Given the description of an element on the screen output the (x, y) to click on. 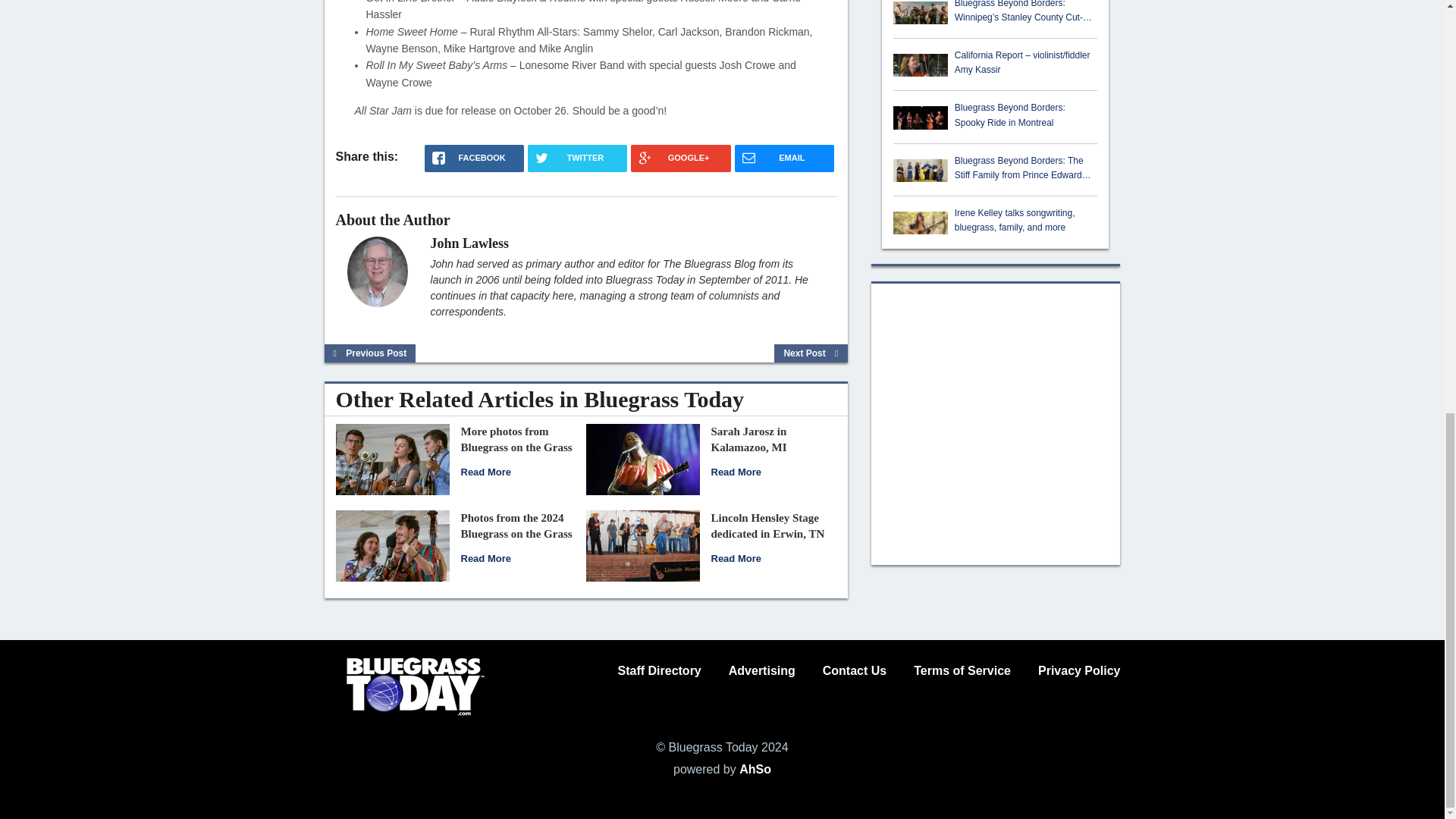
TWITTER (577, 157)
FACEBOOK (474, 157)
Sarah Jarosz in Kalamazoo, MI (749, 439)
Previous Post (370, 353)
Lincoln Hensley Stage dedicated in Erwin, TN (768, 525)
Lincoln Hensley Stage dedicated in Erwin, TN (641, 544)
Photos from the 2024 Bluegrass on the Grass (486, 558)
Photos from the 2024 Bluegrass on the Grass (516, 525)
More photos from Bluegrass on the Grass (486, 471)
Photos from the 2024 Bluegrass on the Grass (391, 544)
More photos from Bluegrass on the Grass (391, 459)
Sarah Jarosz in Kalamazoo, MI (641, 459)
More photos from Bluegrass on the Grass (516, 439)
Sarah Jarosz in Kalamazoo, MI (736, 471)
EMAIL (784, 157)
